Given the description of an element on the screen output the (x, y) to click on. 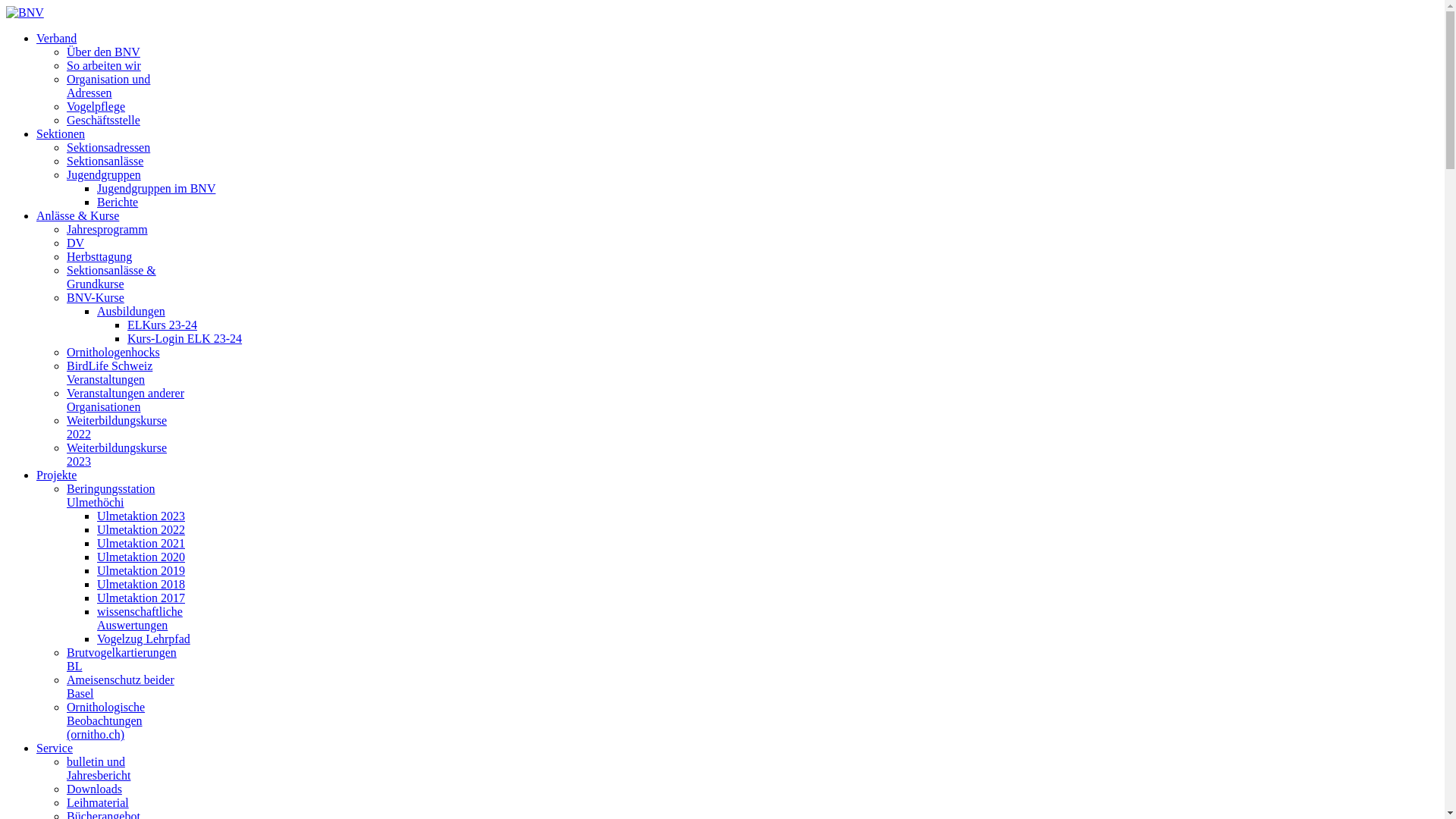
Brutvogelkartierungen BL Element type: text (121, 659)
DV Element type: text (75, 242)
Jugendgruppen im BNV Element type: text (156, 188)
Ulmetaktion 2019 Element type: text (141, 570)
Vogelzug Lehrpfad Element type: text (143, 638)
Ulmetaktion 2018 Element type: text (141, 583)
Herbsttagung Element type: text (98, 256)
Ornithologische Beobachtungen (ornitho.ch) Element type: text (105, 720)
Projekte Element type: text (56, 474)
Ornithologenhocks Element type: text (113, 351)
Jahresprogramm Element type: text (106, 228)
Ausbildungen Element type: text (131, 310)
Ulmetaktion 2022 Element type: text (141, 529)
Weiterbildungskurse 2023 Element type: text (116, 454)
BNV-Kurse Element type: text (95, 297)
Downloads Element type: text (94, 788)
ELKurs 23-24 Element type: text (162, 324)
Kurs-Login ELK 23-24 Element type: text (184, 338)
Ulmetaktion 2021 Element type: text (141, 542)
wissenschaftliche Auswertungen Element type: text (139, 618)
So arbeiten wir Element type: text (103, 65)
Organisation und Adressen Element type: text (108, 85)
Service Element type: text (54, 747)
Ulmetaktion 2023 Element type: text (141, 515)
Berichte Element type: text (117, 201)
Leihmaterial Element type: text (97, 802)
Sektionsadressen Element type: text (108, 147)
Veranstaltungen anderer Organisationen Element type: text (125, 399)
Ulmetaktion 2017 Element type: text (141, 597)
Verband Element type: text (56, 37)
Jugendgruppen Element type: text (103, 174)
Weiterbildungskurse 2022 Element type: text (116, 427)
BNV Element type: hover (24, 12)
bulletin und Jahresbericht Element type: text (98, 768)
Ulmetaktion 2020 Element type: text (141, 556)
BirdLife Schweiz Veranstaltungen Element type: text (109, 372)
Vogelpflege Element type: text (95, 106)
Sektionen Element type: text (60, 133)
Ameisenschutz beider Basel Element type: text (120, 686)
